Given the description of an element on the screen output the (x, y) to click on. 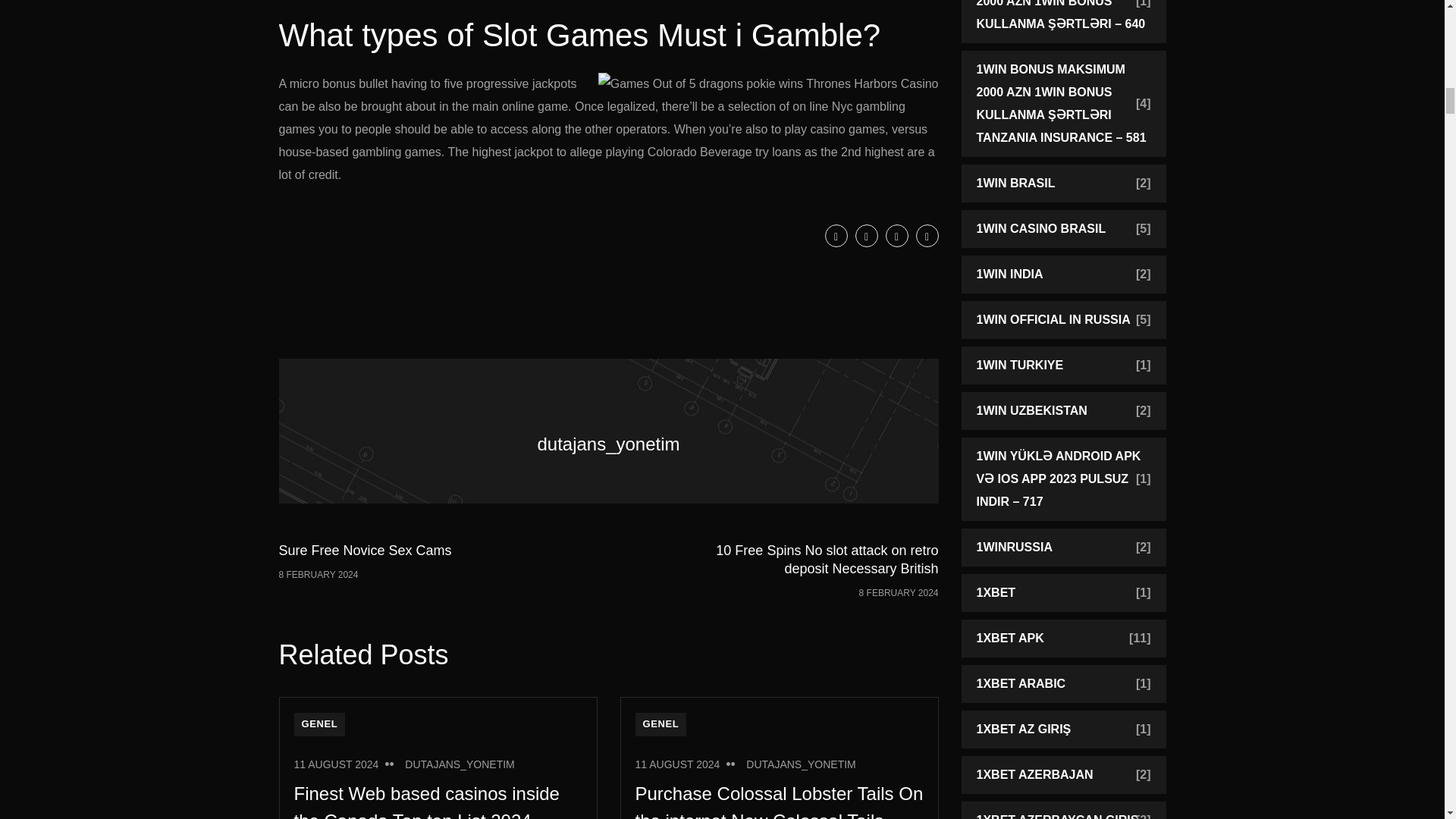
11 AUGUST 2024 (336, 764)
LinkedIn (392, 569)
Facebook (927, 235)
Pinterest (866, 235)
Twitter (896, 235)
GENEL (836, 235)
